Given the description of an element on the screen output the (x, y) to click on. 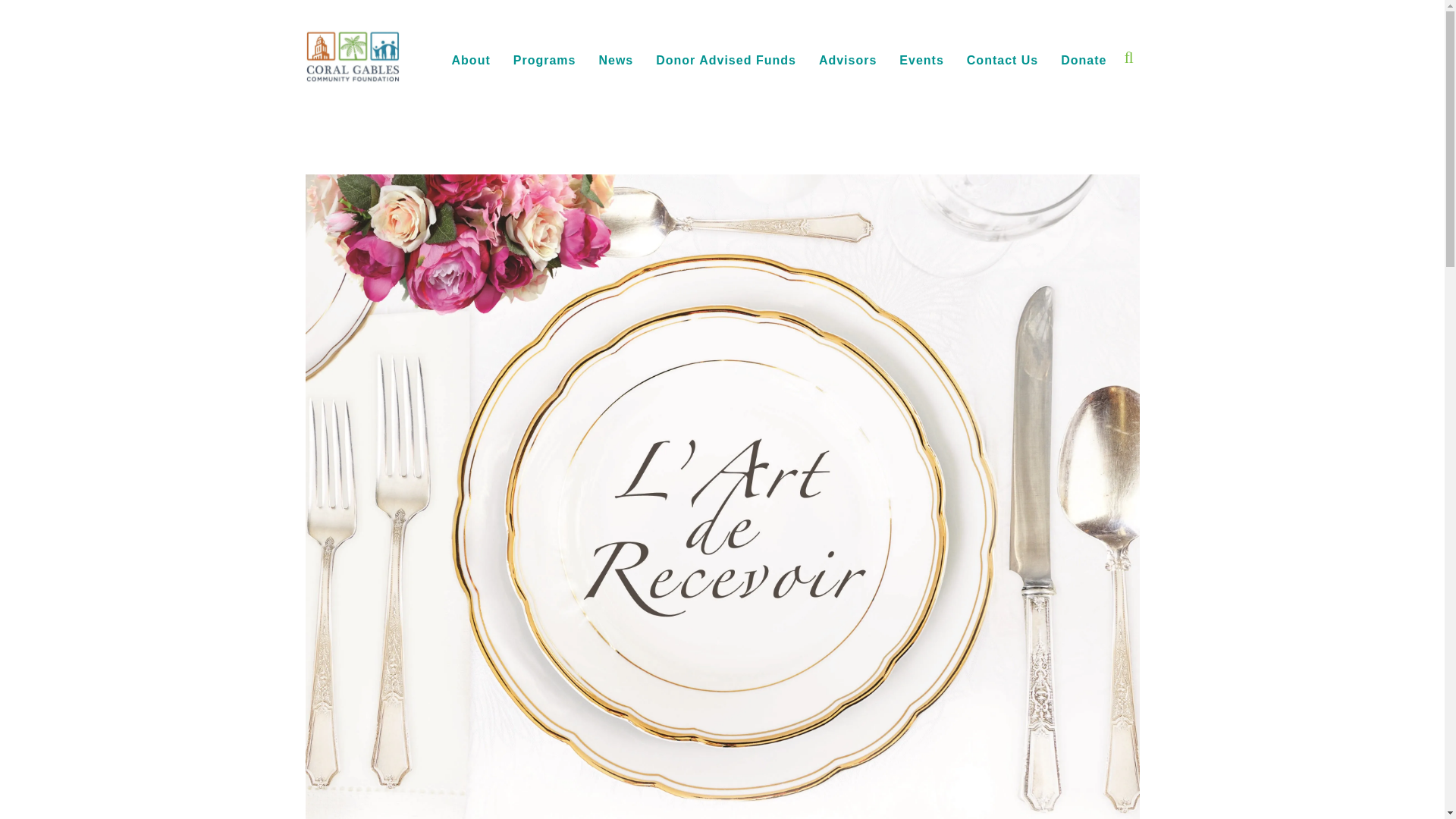
Advisors (848, 60)
About (471, 60)
News (615, 60)
Events (921, 60)
Donor Advised Funds (726, 60)
Programs (545, 60)
